Given the description of an element on the screen output the (x, y) to click on. 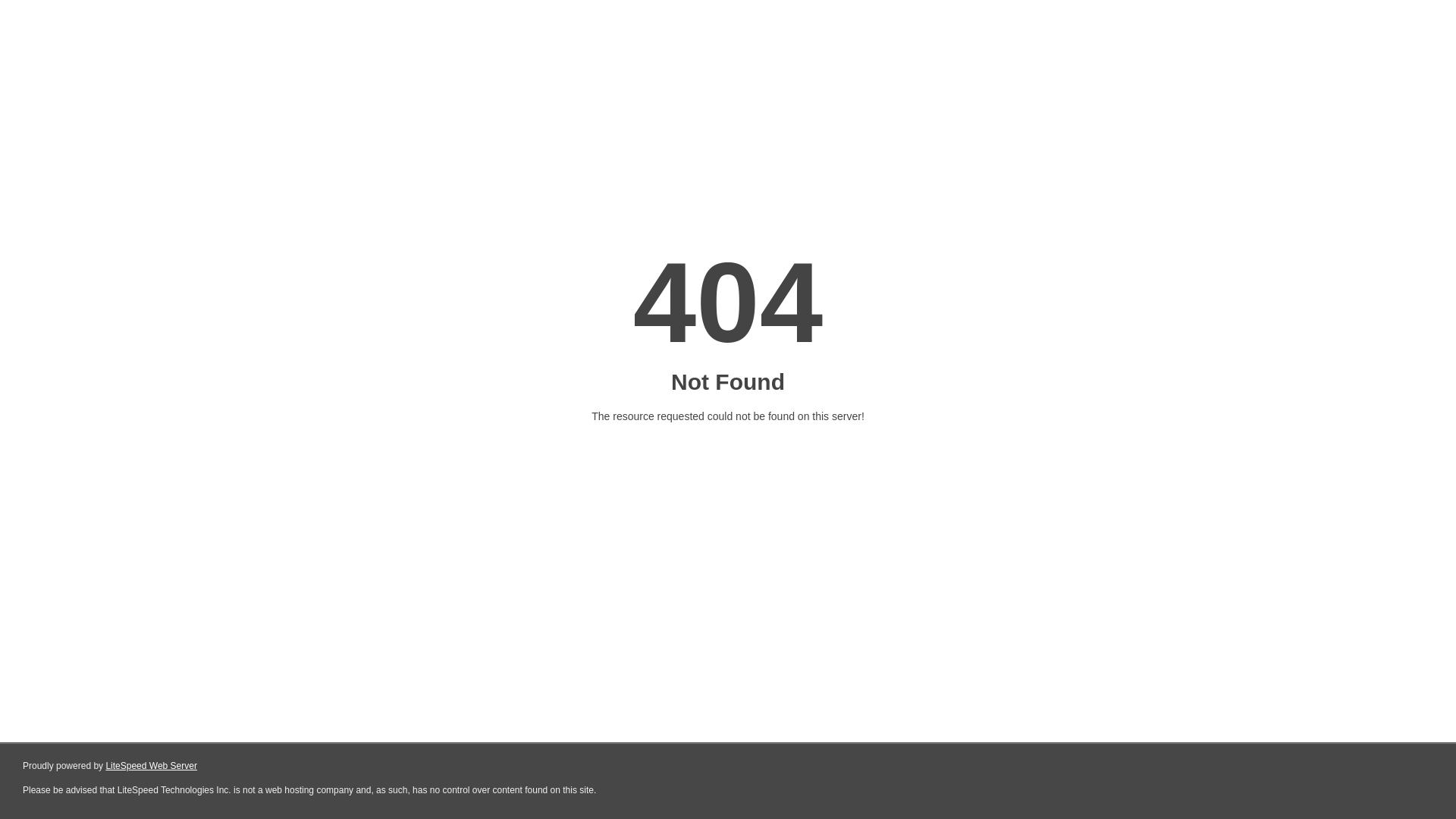
LiteSpeed Web Server (150, 765)
